Given the description of an element on the screen output the (x, y) to click on. 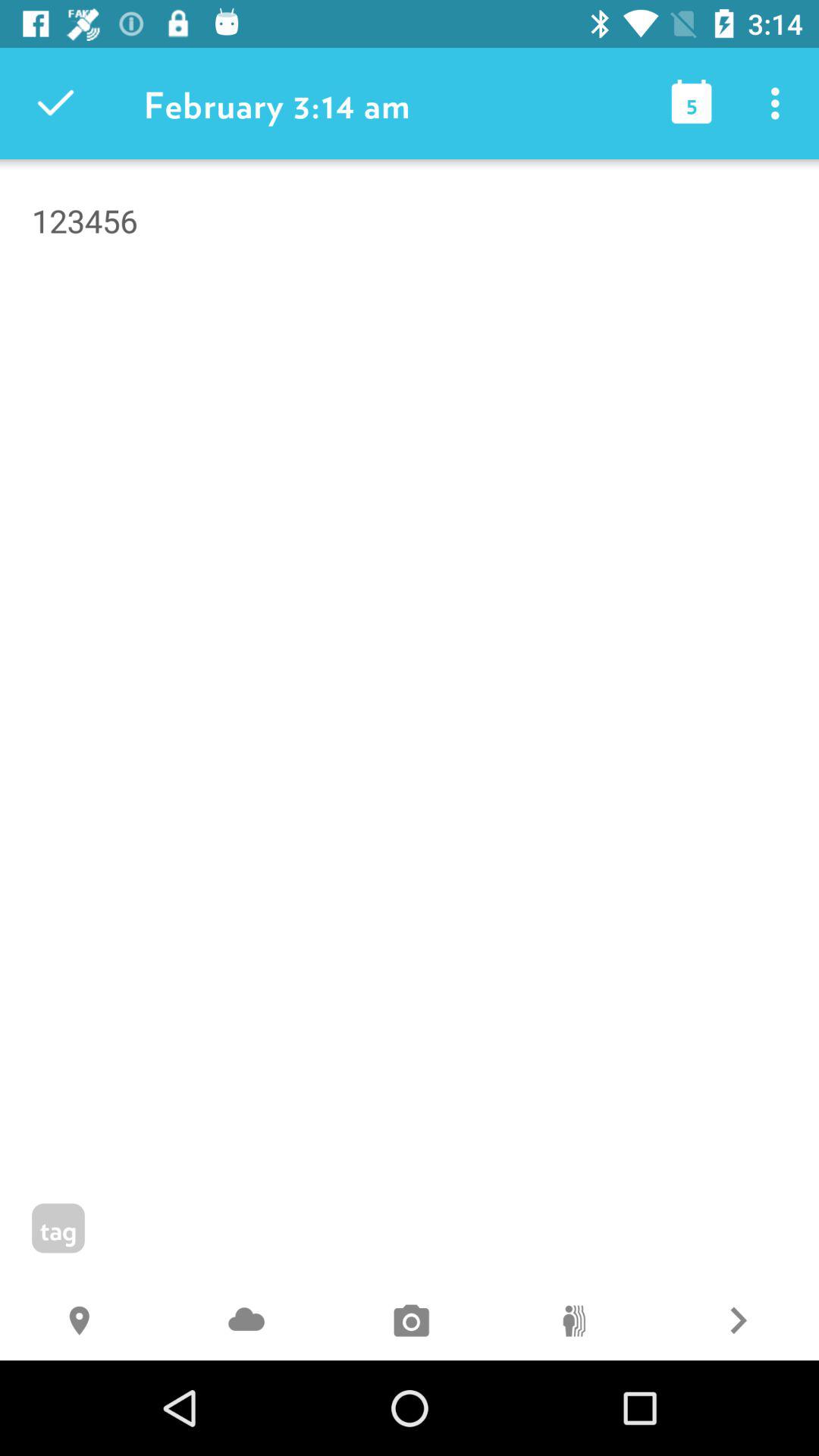
choose the item below the 123456 (573, 1322)
